Given the description of an element on the screen output the (x, y) to click on. 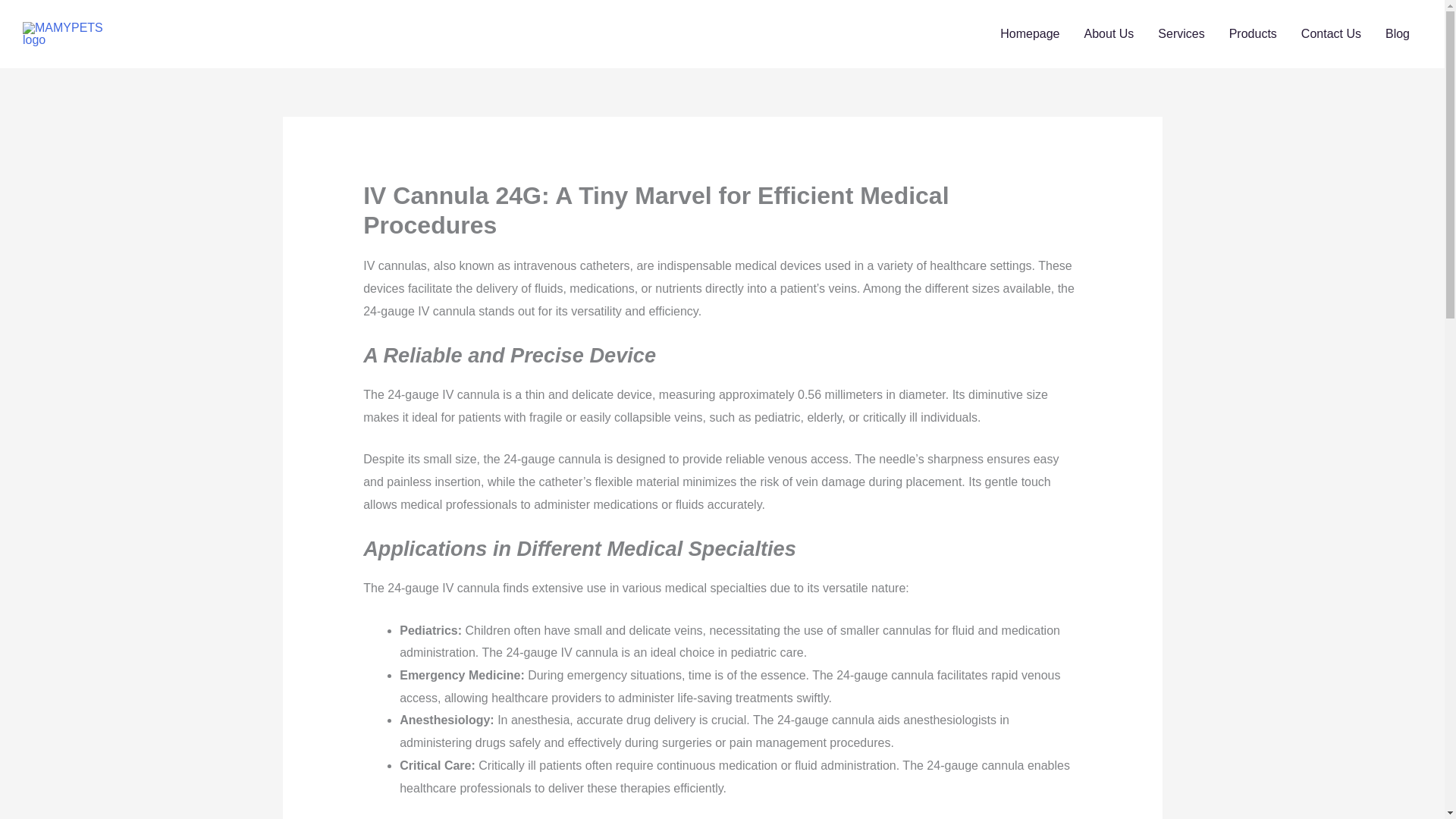
Homepage (1029, 33)
About Us (1109, 33)
Products (1252, 33)
Services (1180, 33)
Blog (1397, 33)
Contact Us (1330, 33)
